Given the description of an element on the screen output the (x, y) to click on. 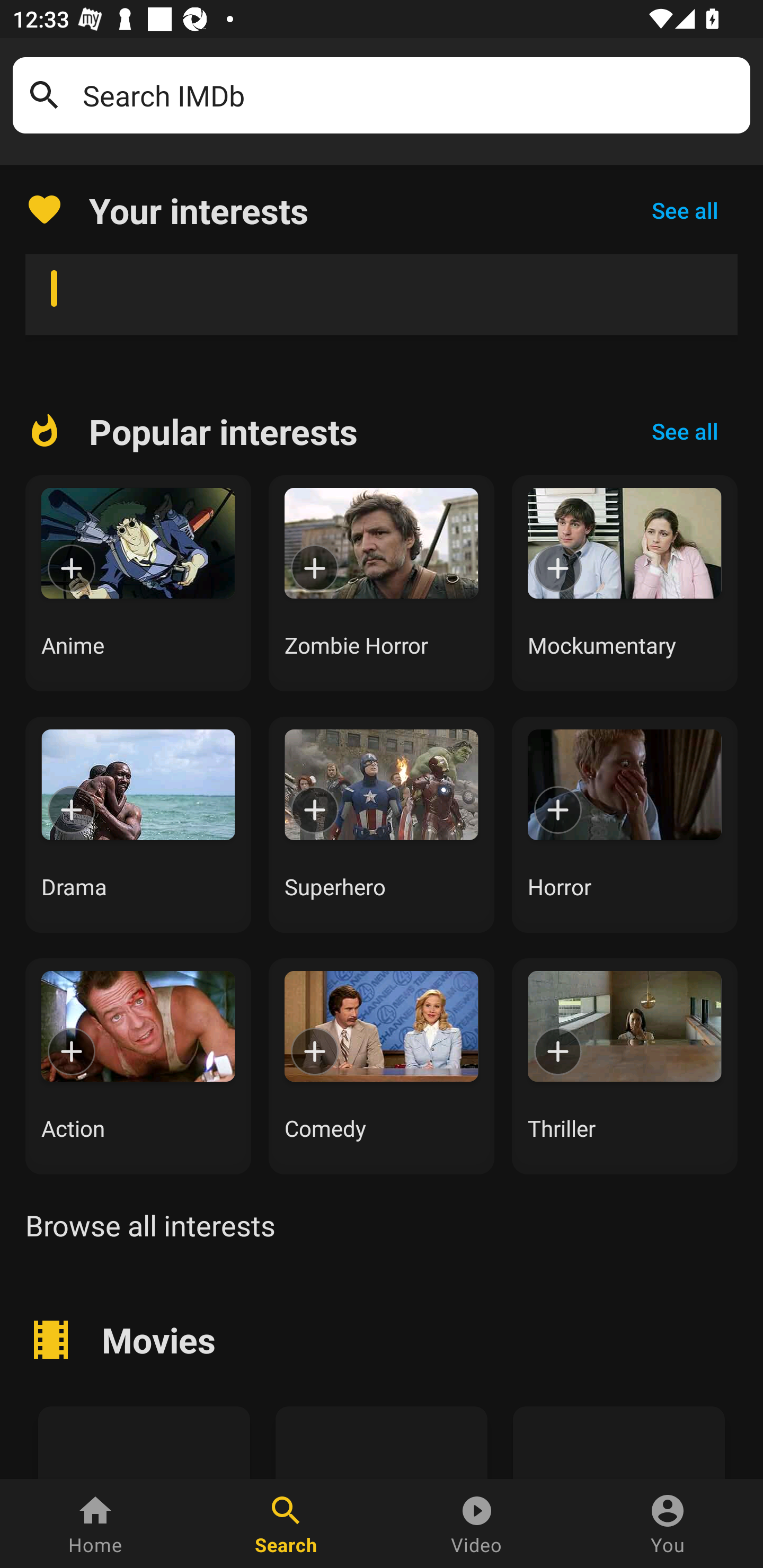
Search IMDb (410, 95)
See all (684, 209)
See all (684, 430)
Anime (138, 583)
Zombie Horror (381, 583)
Mockumentary (624, 583)
Drama (138, 824)
Superhero (381, 824)
Horror (624, 824)
Action (138, 1065)
Comedy (381, 1065)
Thriller (624, 1065)
Browse all interests (150, 1224)
Home (95, 1523)
Video (476, 1523)
You (667, 1523)
